Given the description of an element on the screen output the (x, y) to click on. 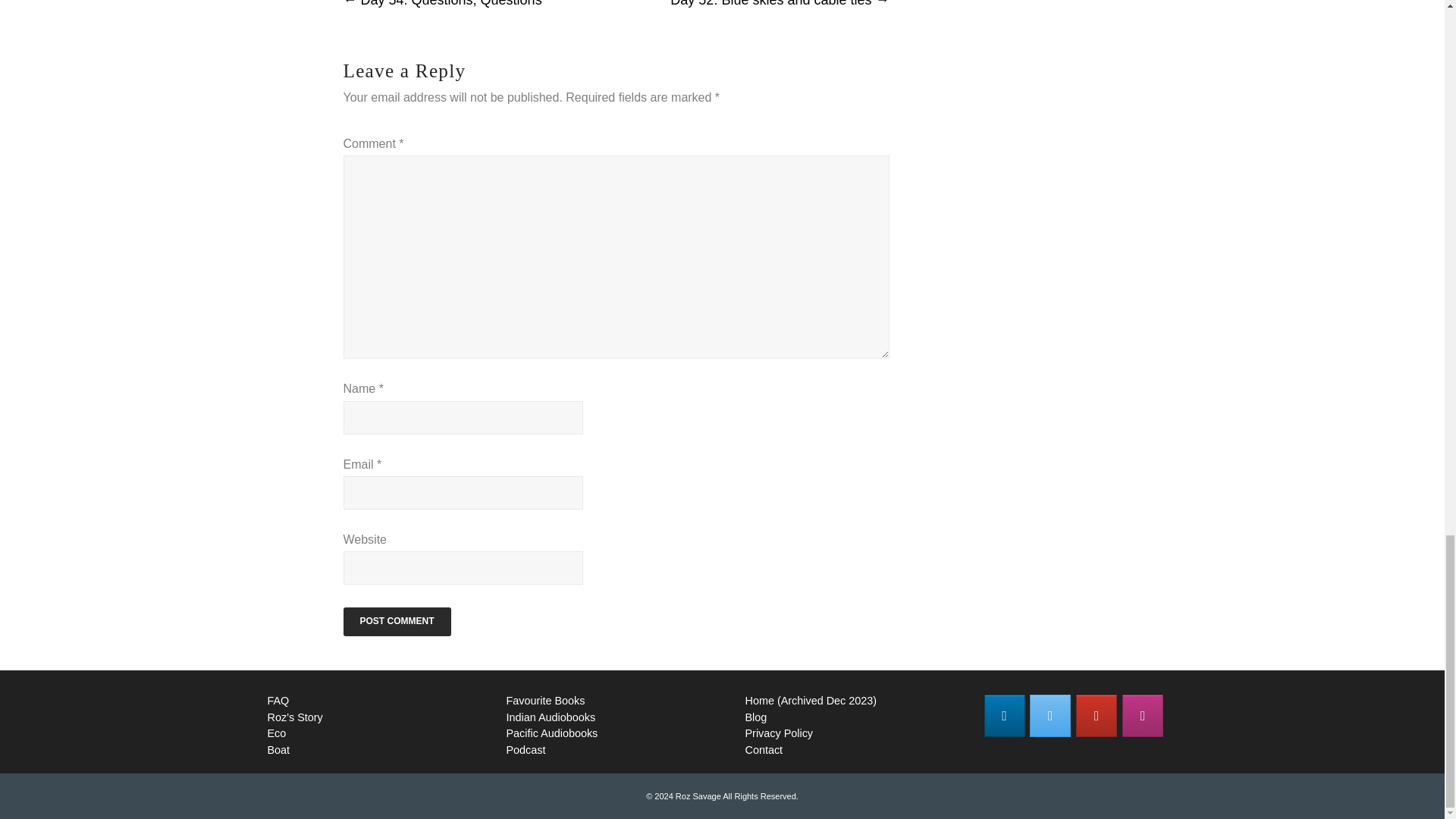
Roz Savage on Linkedin (1004, 715)
Roz Savage on X Twitter (1049, 715)
Roz Savage on Youtube (1095, 715)
Roz Savage on Instagram (1142, 715)
Post Comment (395, 621)
Post Comment (395, 621)
